Given the description of an element on the screen output the (x, y) to click on. 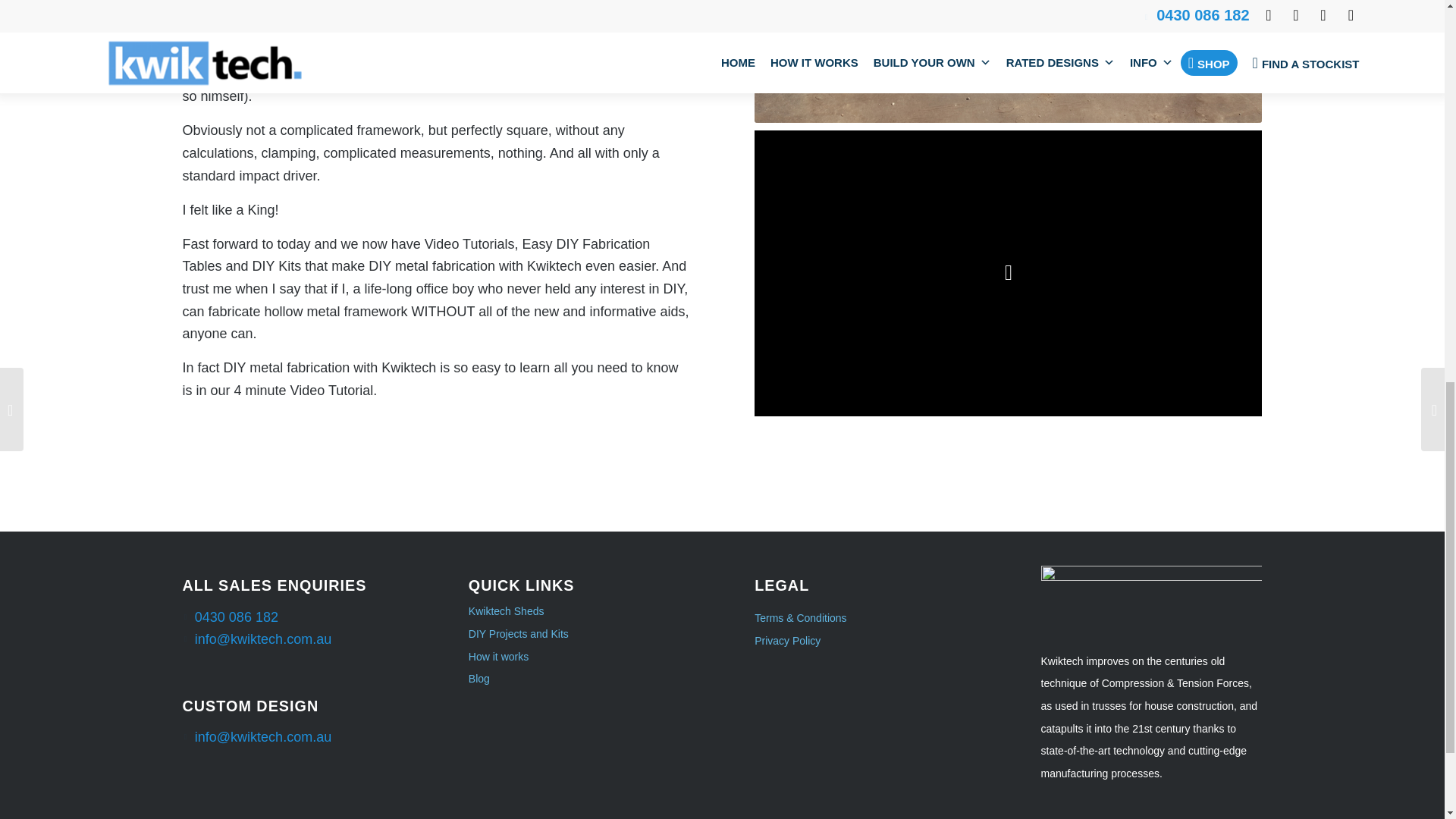
DIY Projects and Kits (579, 634)
Kwiktech Sheds (579, 611)
Blog (579, 679)
How it works (579, 657)
Gate-driveway (1008, 61)
Privacy Policy (787, 640)
0430 086 182 (236, 616)
